Given the description of an element on the screen output the (x, y) to click on. 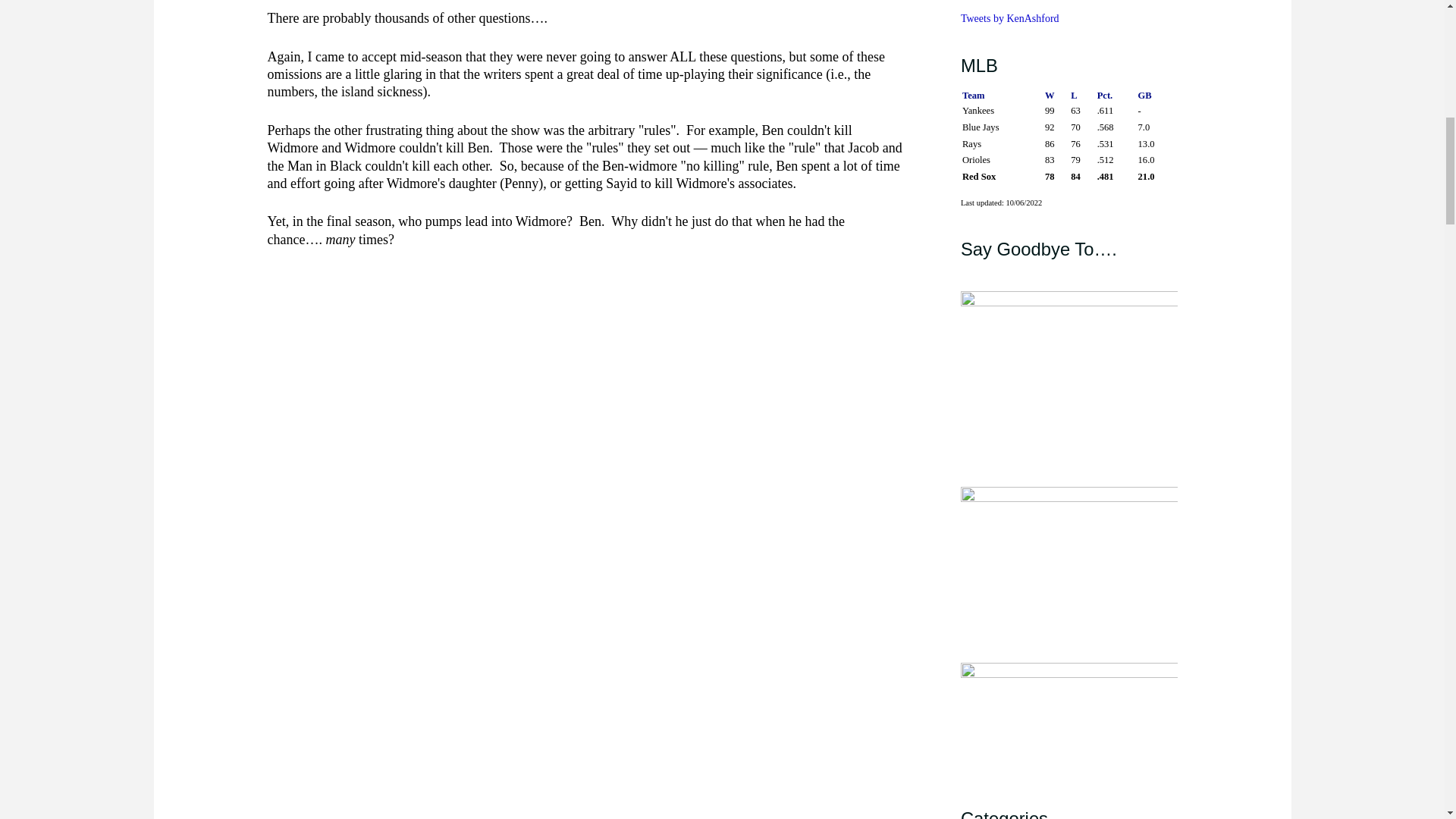
Tweets by KenAshford (1009, 18)
